Given the description of an element on the screen output the (x, y) to click on. 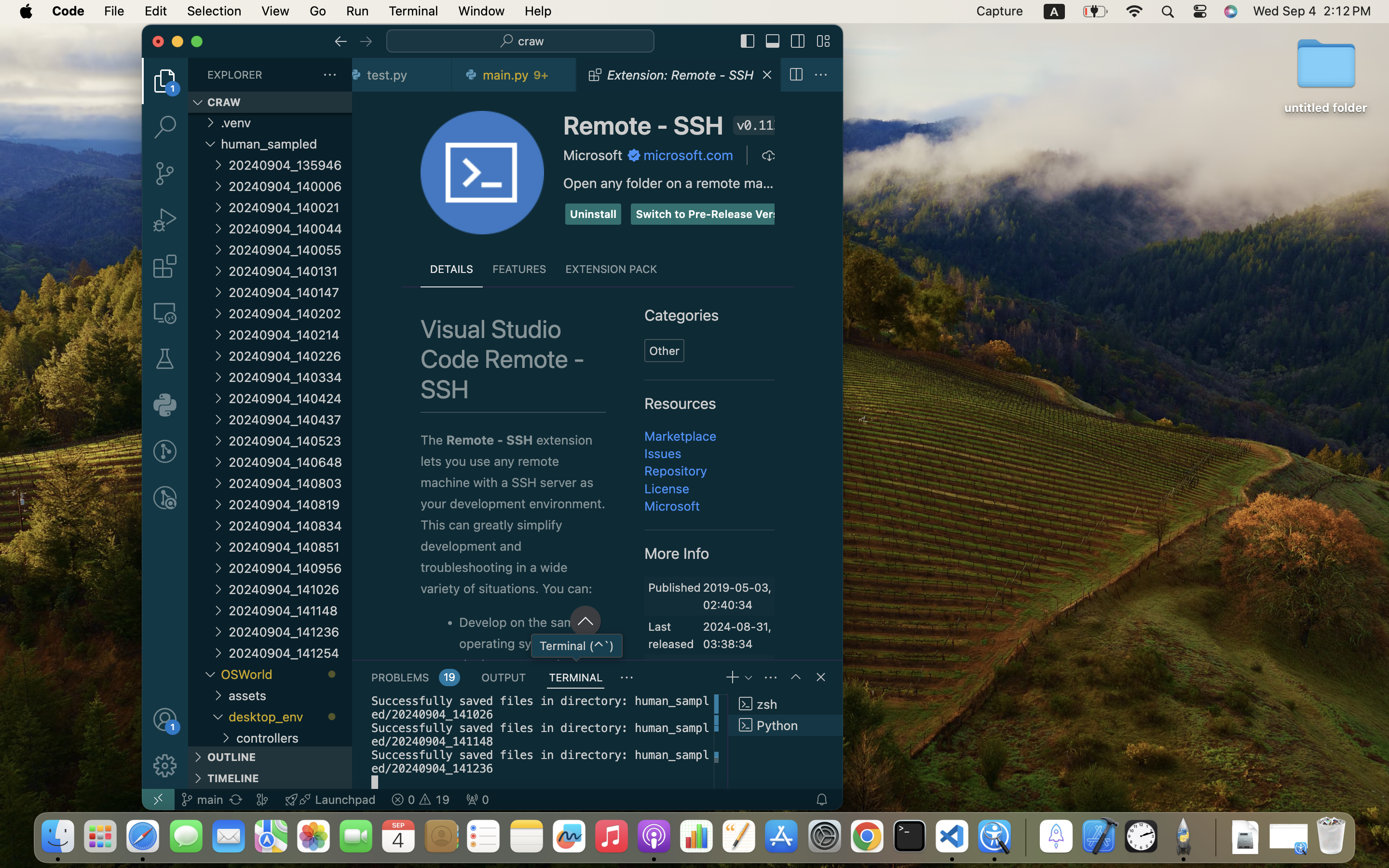
20240904_140803 Element type: AXGroup (290, 482)
 Element type: AXButton (340, 41)
20240904_140956 Element type: AXGroup (290, 567)
Develop on the same operating system you deploy to or use larger, faster, or more specialized hardware than your local machine. Element type: AXStaticText (530, 637)
Other Element type: AXGroup (664, 350)
